Given the description of an element on the screen output the (x, y) to click on. 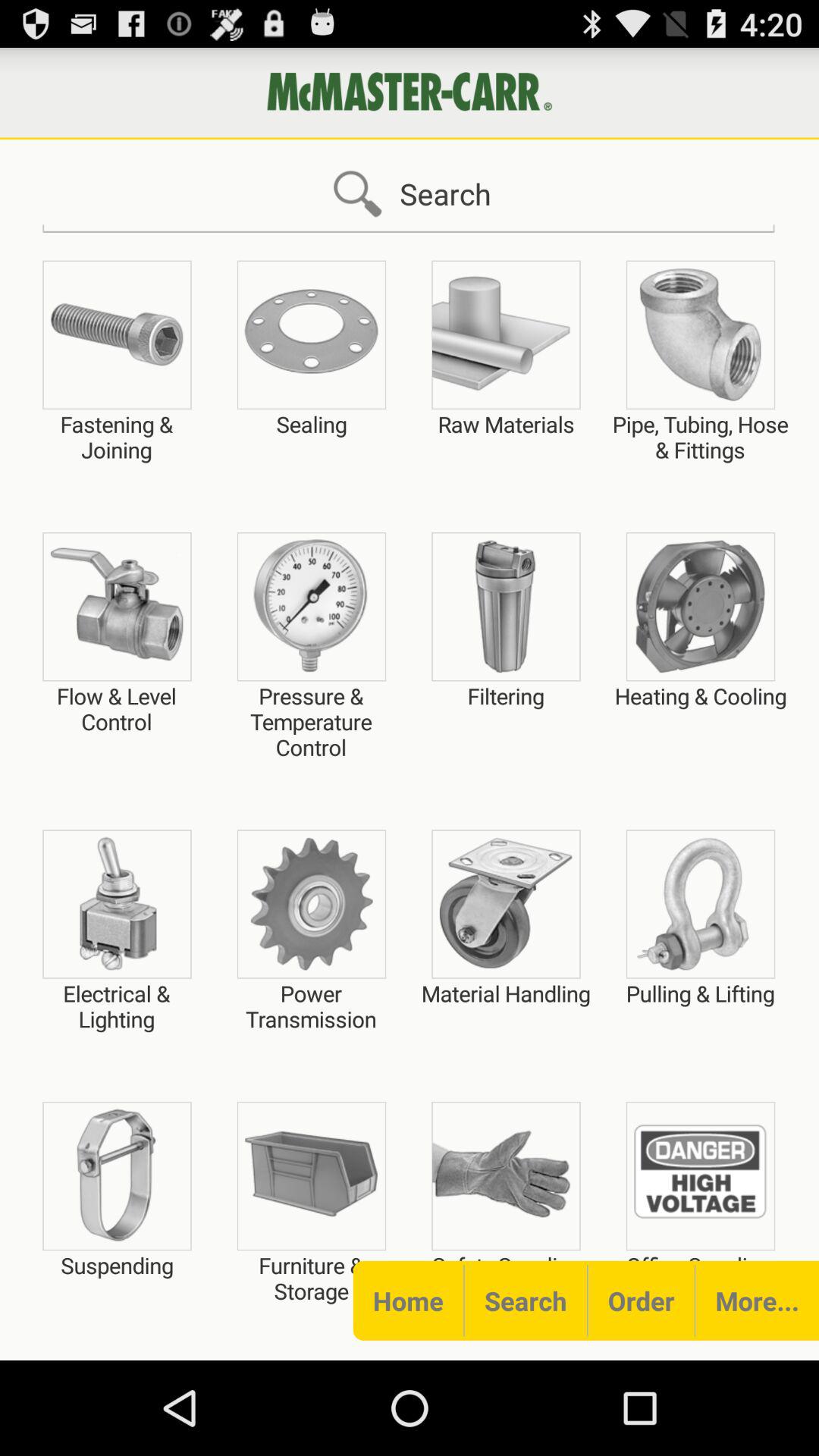
select the image above sealing (311, 334)
